Given the description of an element on the screen output the (x, y) to click on. 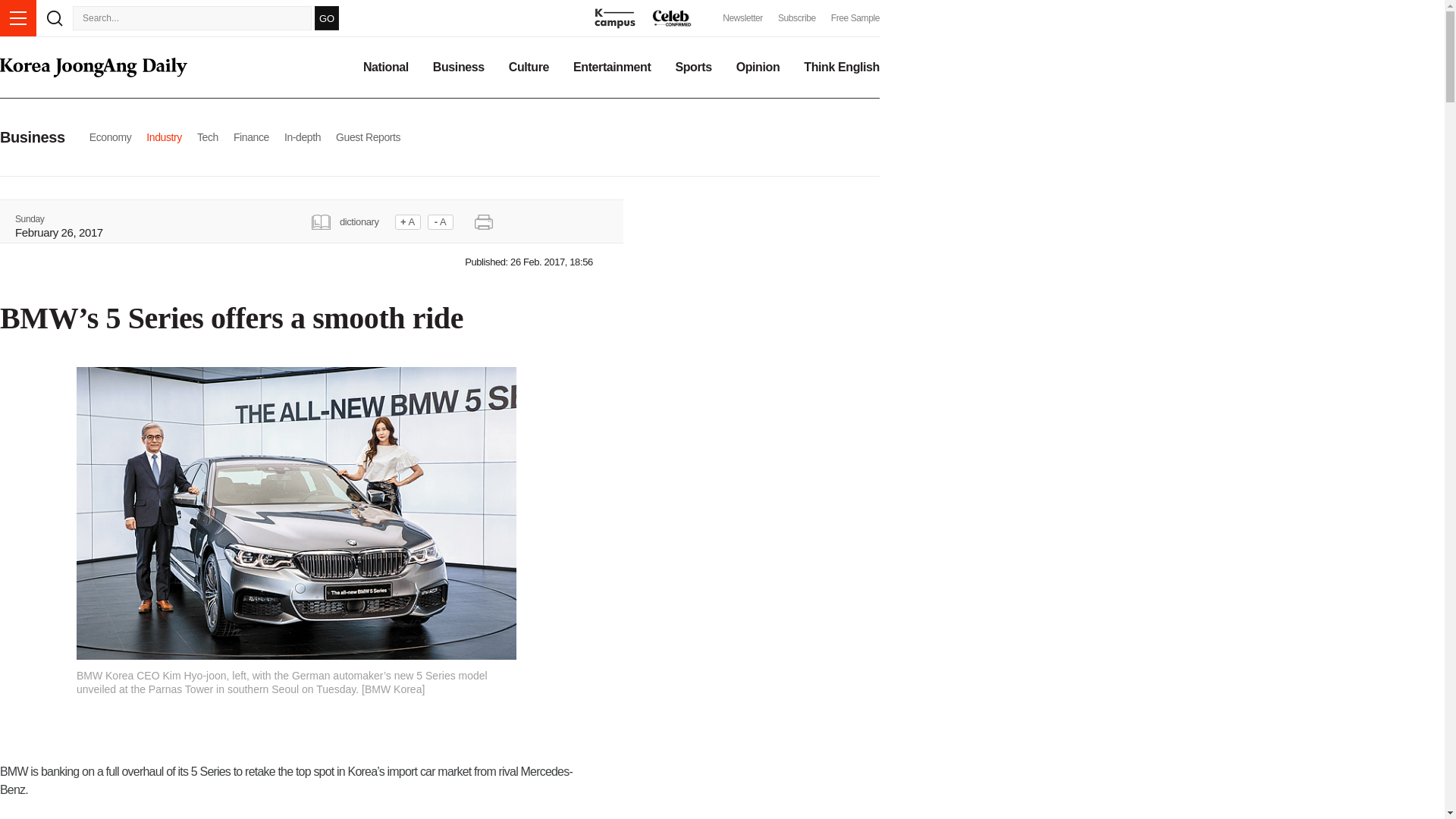
Finance (250, 136)
Finance (250, 136)
In-depth (301, 136)
Industry (164, 136)
Industry (164, 136)
In-depth (301, 136)
Economy (110, 136)
Guest Reports (368, 136)
Entertainment (611, 67)
Subscribe (796, 18)
Tech (207, 136)
Business (458, 67)
Newsletter (742, 18)
Economy (110, 136)
Sports (693, 67)
